Given the description of an element on the screen output the (x, y) to click on. 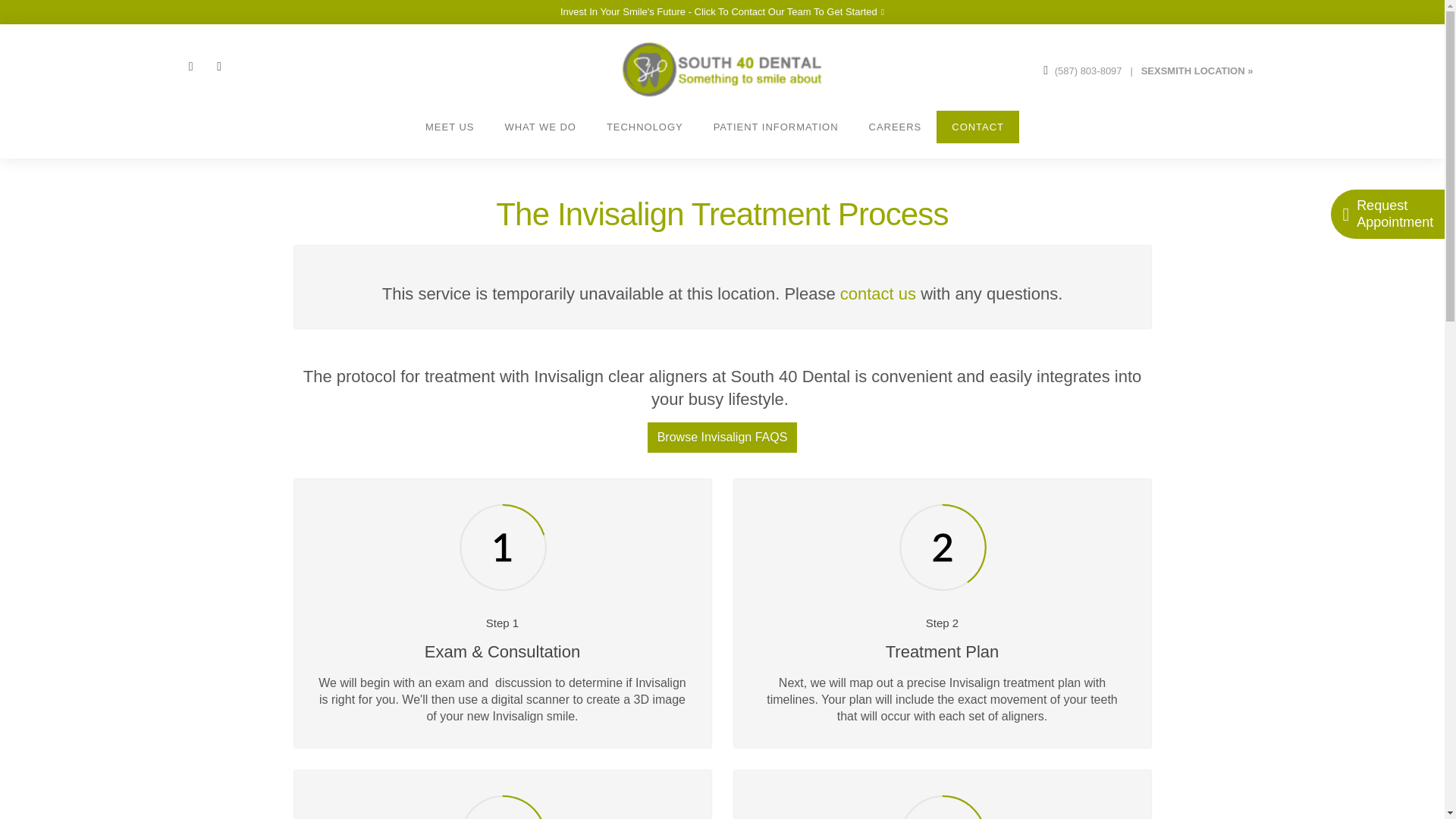
South40 Dental in Sexsmith (1197, 68)
Our Services (540, 126)
WHAT WE DO (540, 126)
MEET US (449, 126)
